Given the description of an element on the screen output the (x, y) to click on. 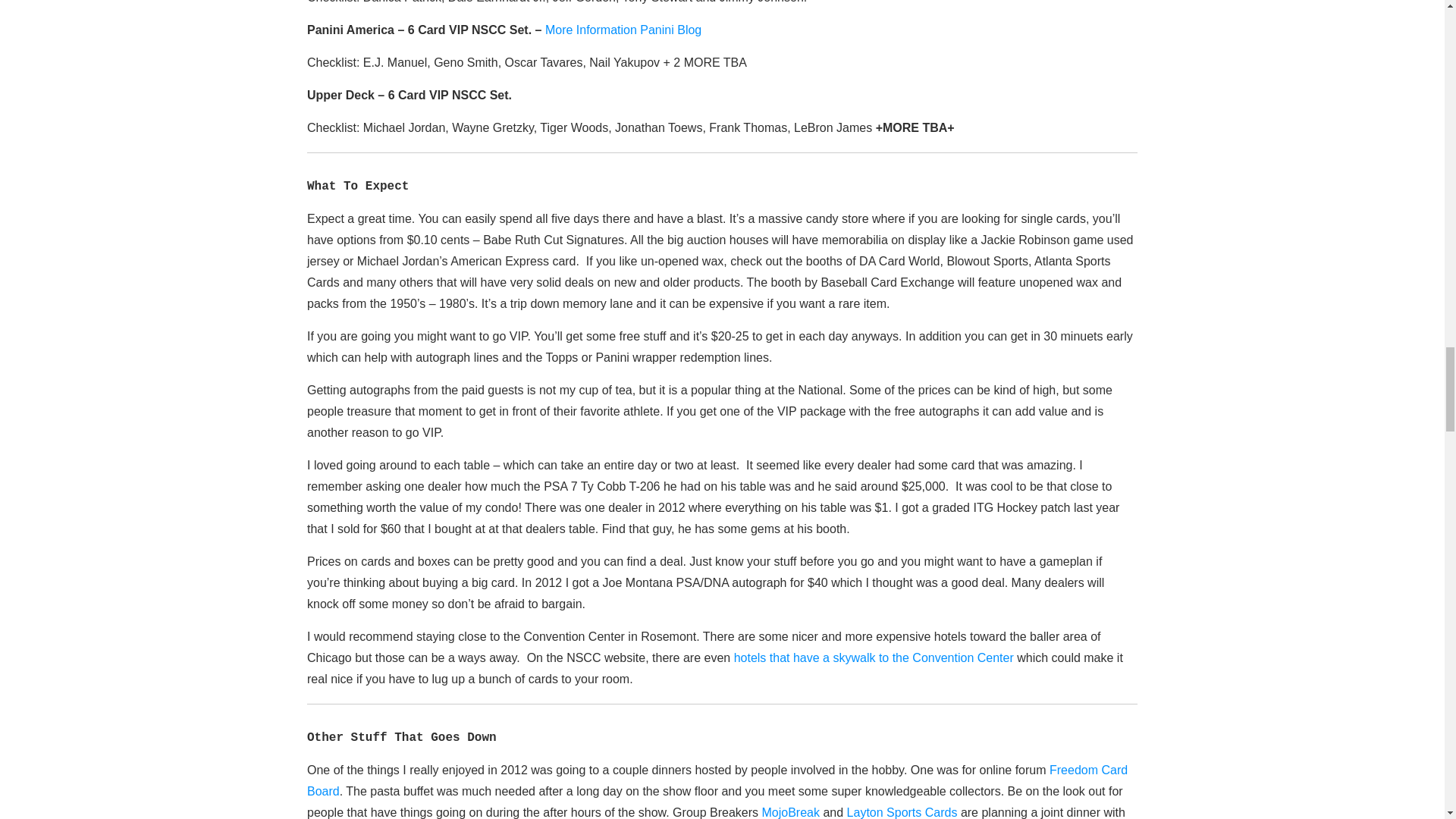
hotels that have a skywalk to the Convention Center (873, 657)
More Information Panini Blog (622, 29)
Freedom Card Board (716, 780)
Layton Sports Cards (902, 812)
MojoBreak (789, 812)
